Given the description of an element on the screen output the (x, y) to click on. 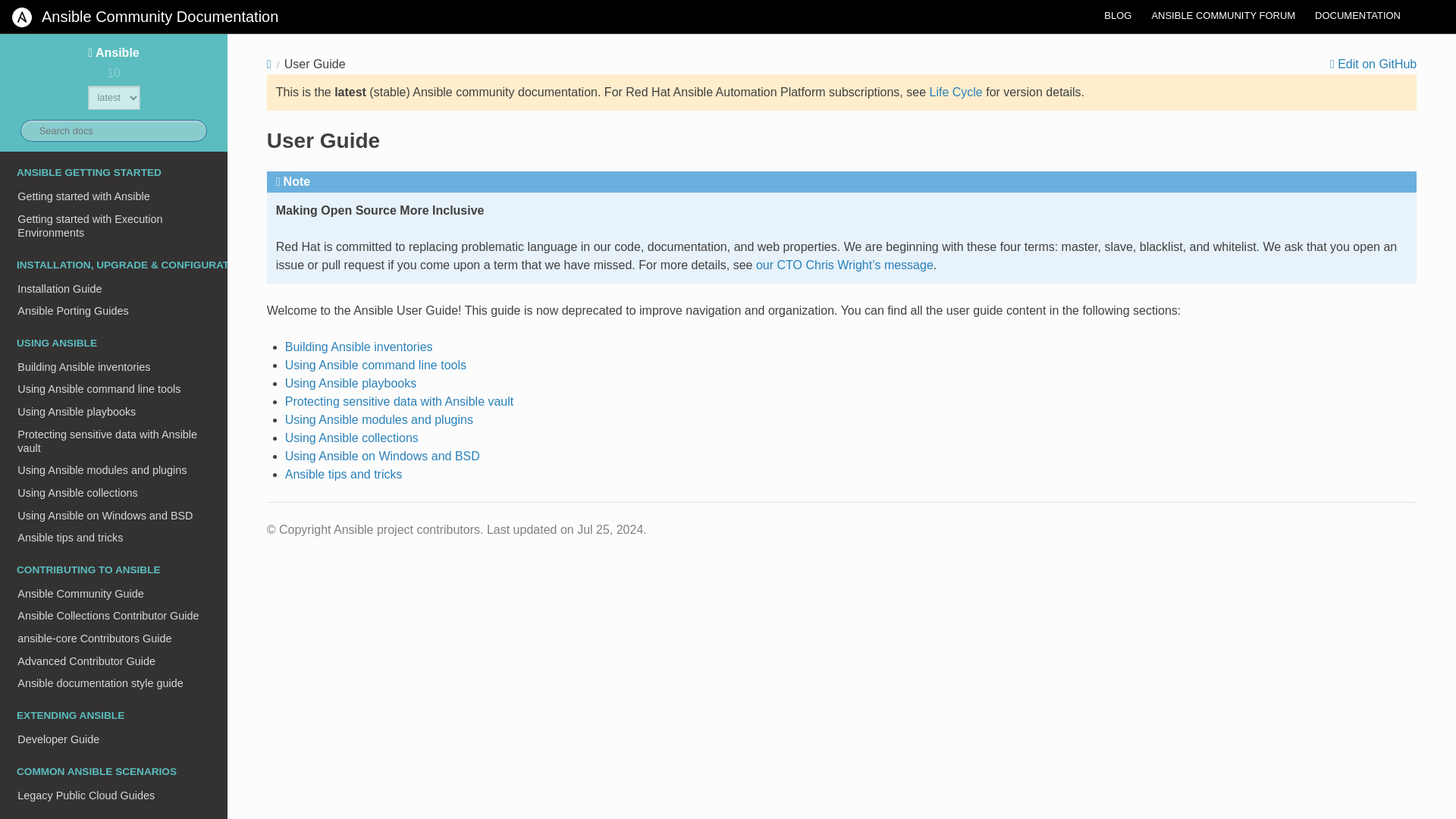
Using Ansible modules and plugins (113, 469)
Getting started with Ansible (113, 196)
Ansible Collections Contributor Guide (113, 616)
Getting started with Execution Environments (113, 226)
Advanced Contributor Guide (113, 661)
DOCUMENTATION (1357, 15)
Legacy Public Cloud Guides (113, 794)
Using Ansible collections (113, 492)
ansible-core Contributors Guide (113, 638)
Using Ansible playbooks (113, 411)
